Given the description of an element on the screen output the (x, y) to click on. 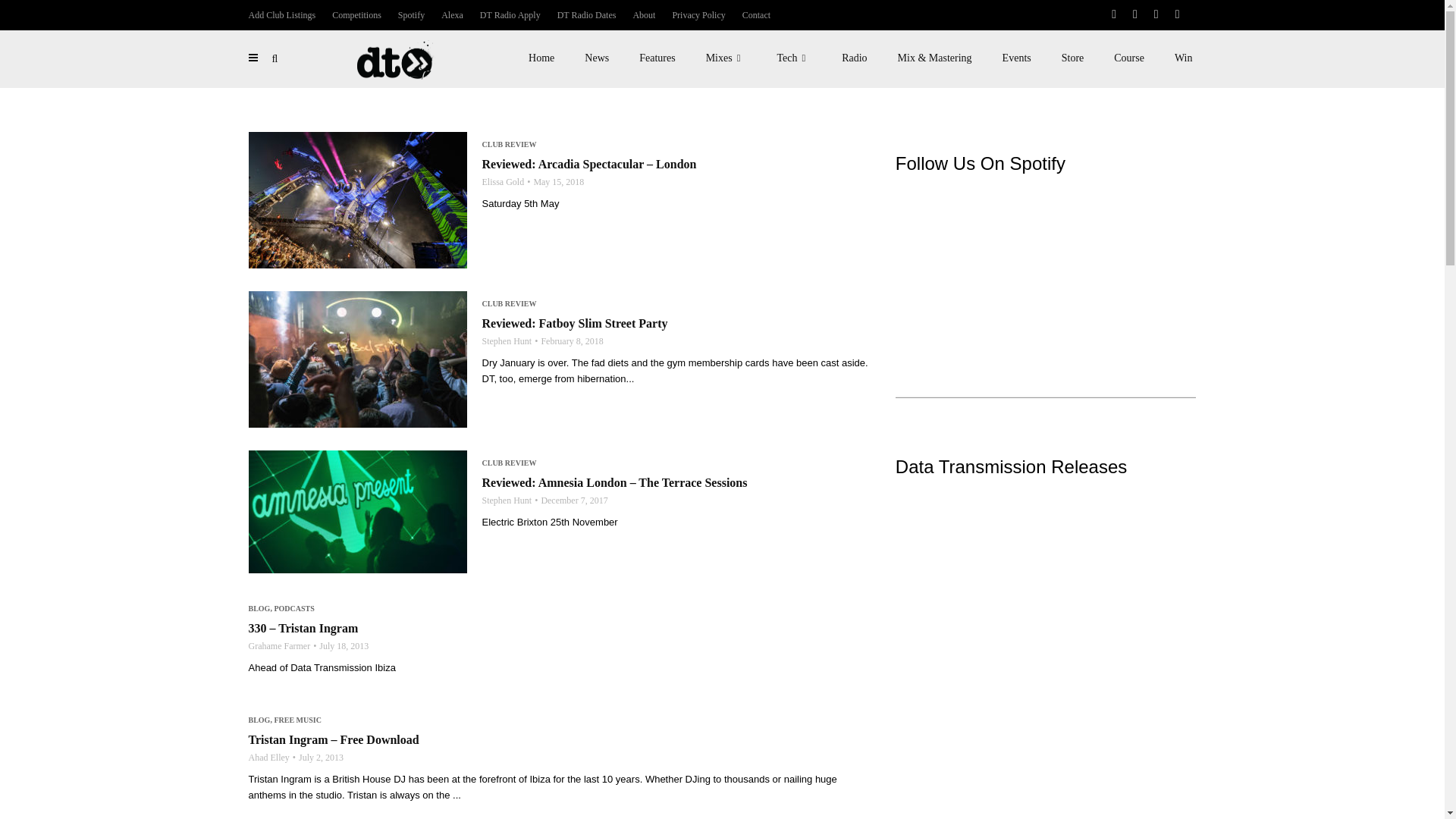
Features (657, 57)
Mixes (725, 57)
Home (541, 57)
Course (1128, 57)
News (596, 57)
Tech (794, 57)
Events (1016, 57)
Spotify Embed: New Music Friday (1045, 259)
Store (1072, 57)
Radio (854, 57)
